Given the description of an element on the screen output the (x, y) to click on. 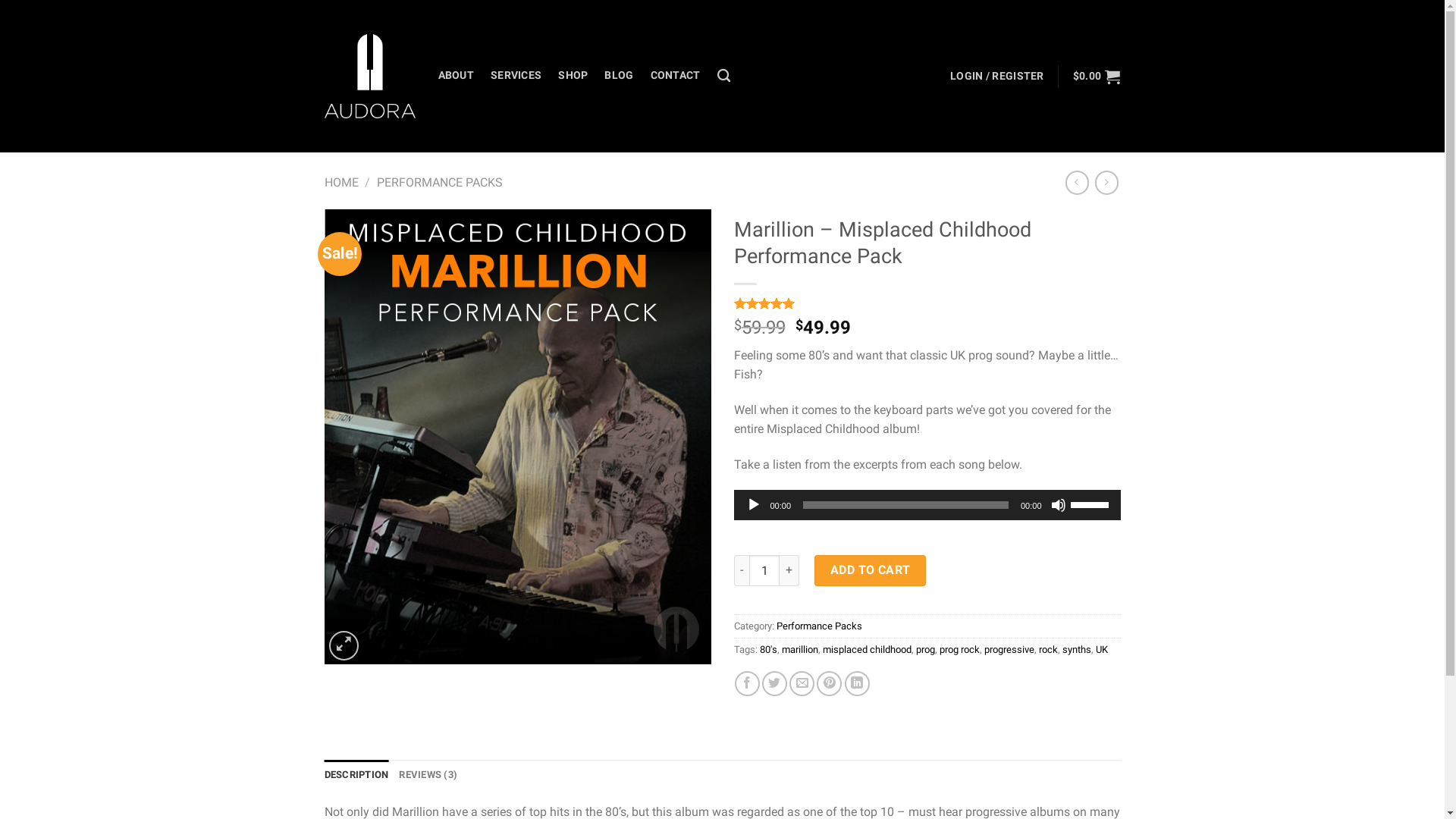
Performance Packs Element type: text (819, 625)
HOME Element type: text (341, 182)
80's Element type: text (768, 649)
SHOP Element type: text (572, 75)
Use Up/Down Arrow keys to increase or decrease volume. Element type: text (1091, 503)
ABOUT Element type: text (455, 75)
rock Element type: text (1047, 649)
Play Element type: hover (753, 504)
Pin on Pinterest Element type: hover (828, 683)
Email to a Friend Element type: hover (801, 683)
Rated out of 5 based on
3
customer ratings Element type: text (927, 303)
Share on Twitter Element type: hover (774, 683)
Zoom Element type: hover (343, 645)
PERFORMANCE PACKS Element type: text (439, 182)
BLOG Element type: text (618, 75)
$0.00 Element type: text (1096, 75)
ADD TO CART Element type: text (869, 570)
Audora - Your home for custom synthesis and learning! Element type: hover (369, 75)
prog Element type: text (925, 649)
DESCRIPTION Element type: text (356, 774)
CONTACT Element type: text (675, 75)
Share on LinkedIn Element type: hover (856, 683)
synths Element type: text (1075, 649)
prog rock Element type: text (958, 649)
REVIEWS (3) Element type: text (427, 774)
SERVICES Element type: text (515, 75)
UK Element type: text (1101, 649)
progressive Element type: text (1009, 649)
Share on Facebook Element type: hover (746, 683)
Mute Element type: hover (1058, 504)
MisplacedMarillionPerfPack Element type: hover (517, 436)
misplaced childhood Element type: text (866, 649)
LOGIN / REGISTER Element type: text (997, 75)
marillion Element type: text (799, 649)
